Given the description of an element on the screen output the (x, y) to click on. 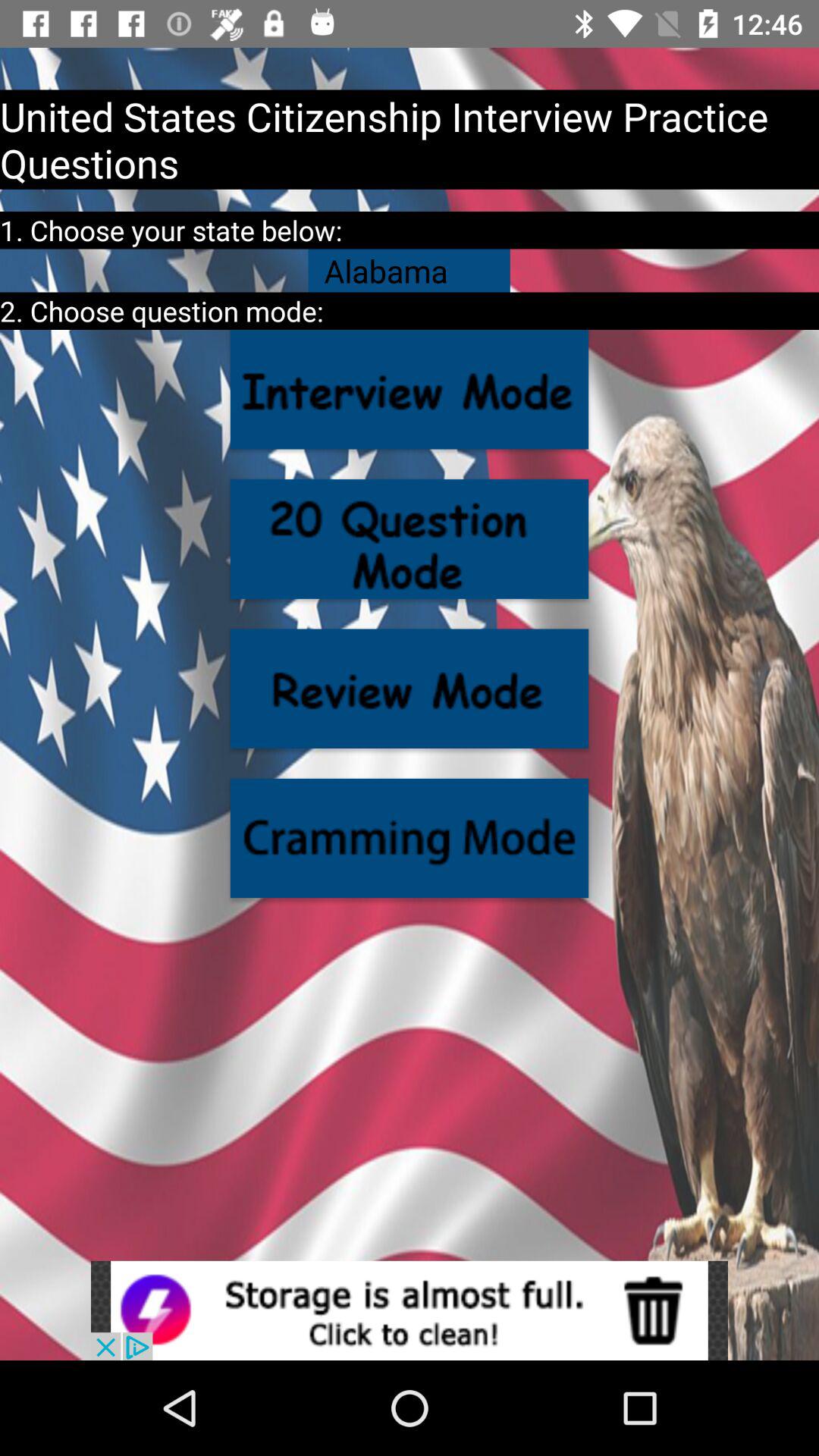
go to advertisement website (409, 1310)
